Given the description of an element on the screen output the (x, y) to click on. 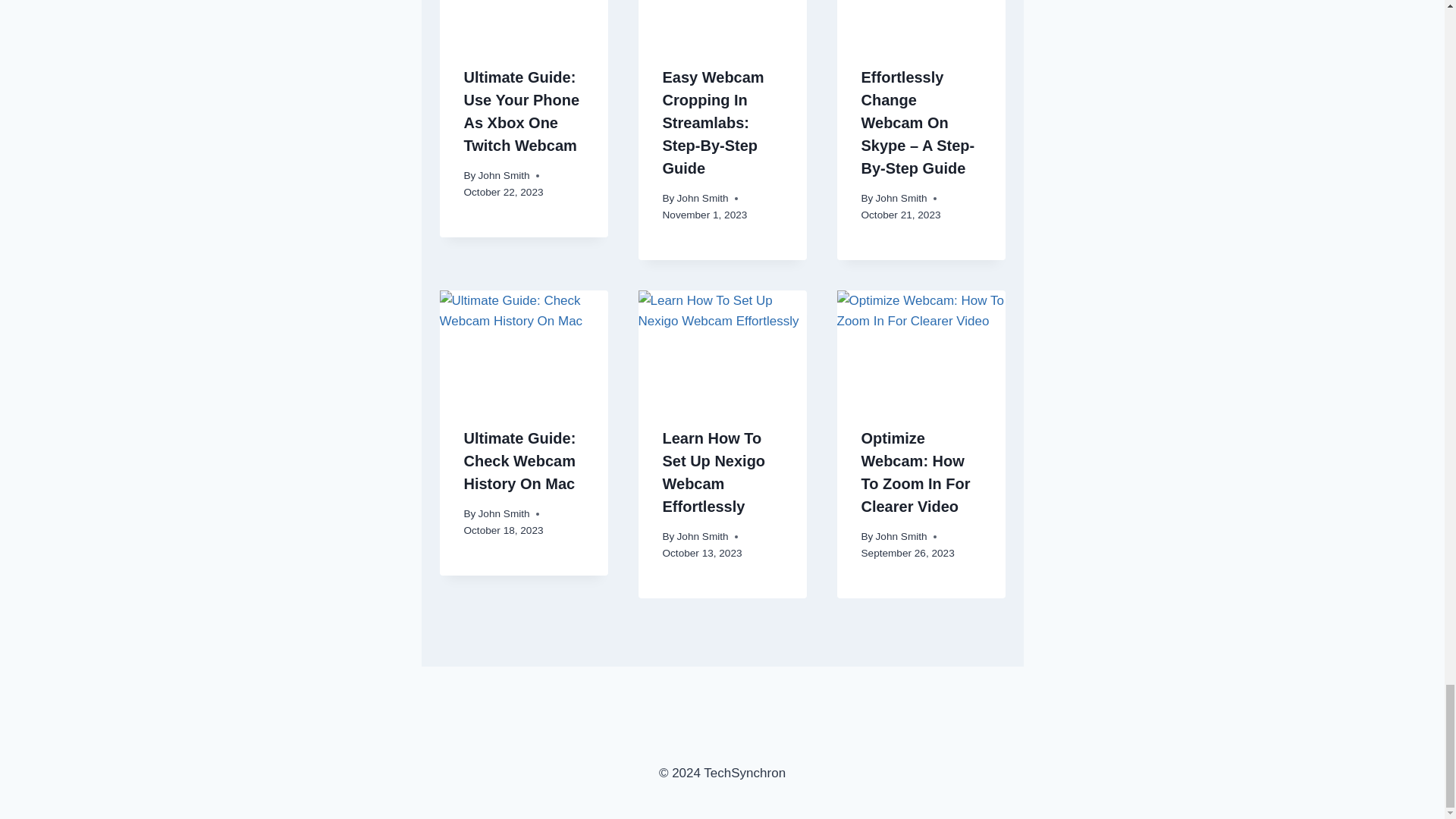
John Smith (901, 197)
John Smith (504, 513)
John Smith (504, 174)
John Smith (703, 536)
Easy Webcam Cropping In Streamlabs: Step-By-Step Guide (713, 122)
Ultimate Guide: Check Webcam History On Mac (520, 460)
John Smith (703, 197)
Ultimate Guide: Use Your Phone As Xbox One Twitch Webcam (521, 110)
Learn How To Set Up Nexigo Webcam Effortlessly (713, 472)
